Given the description of an element on the screen output the (x, y) to click on. 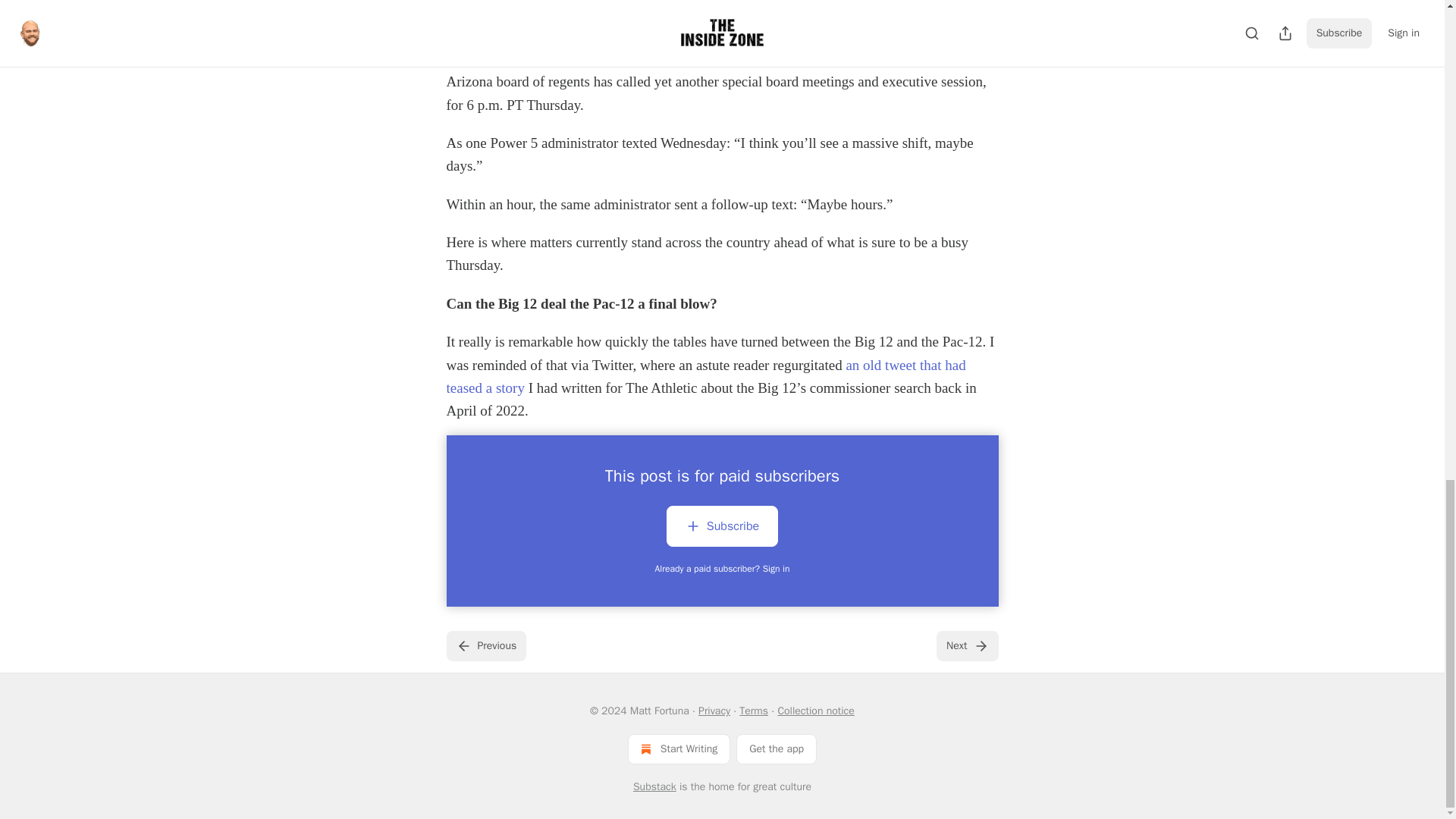
Subscribe (827, 4)
Previous (485, 645)
Already a paid subscriber? Sign in (722, 568)
an old tweet that had teased a story (705, 376)
Terms (753, 710)
Get the app (776, 748)
Subscribe (721, 529)
Collection notice (815, 710)
Next (966, 645)
Privacy (714, 710)
